Given the description of an element on the screen output the (x, y) to click on. 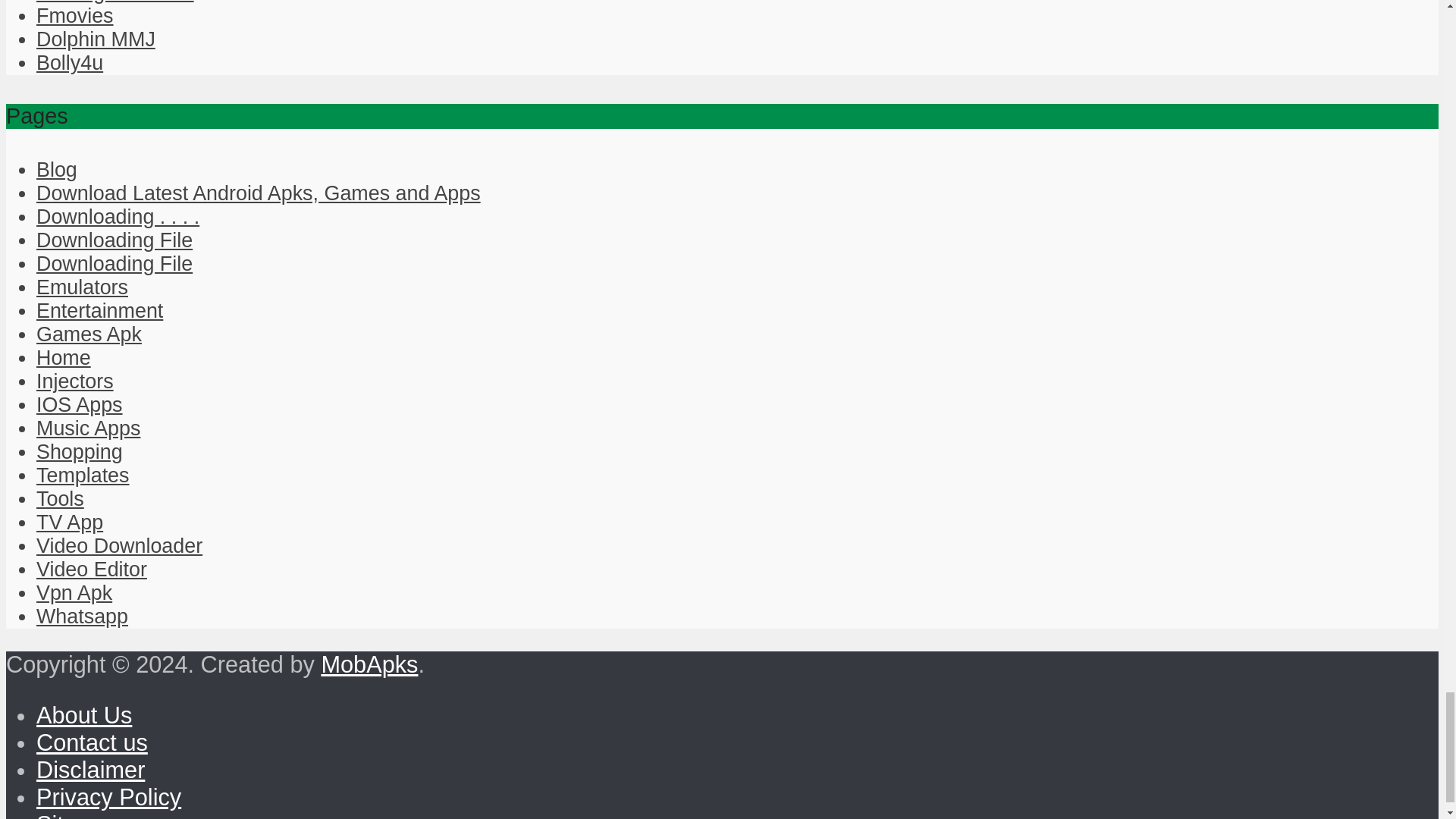
Downloading File (114, 263)
Download Latest Android Apks, Games and Apps (258, 192)
Bolly4u (69, 62)
Emulators (82, 287)
Downloading File (114, 240)
Fmovies (74, 15)
Downloading . . . . (117, 216)
TradingView Mod (114, 2)
Blog (56, 169)
Dolphin MMJ (95, 38)
